Given the description of an element on the screen output the (x, y) to click on. 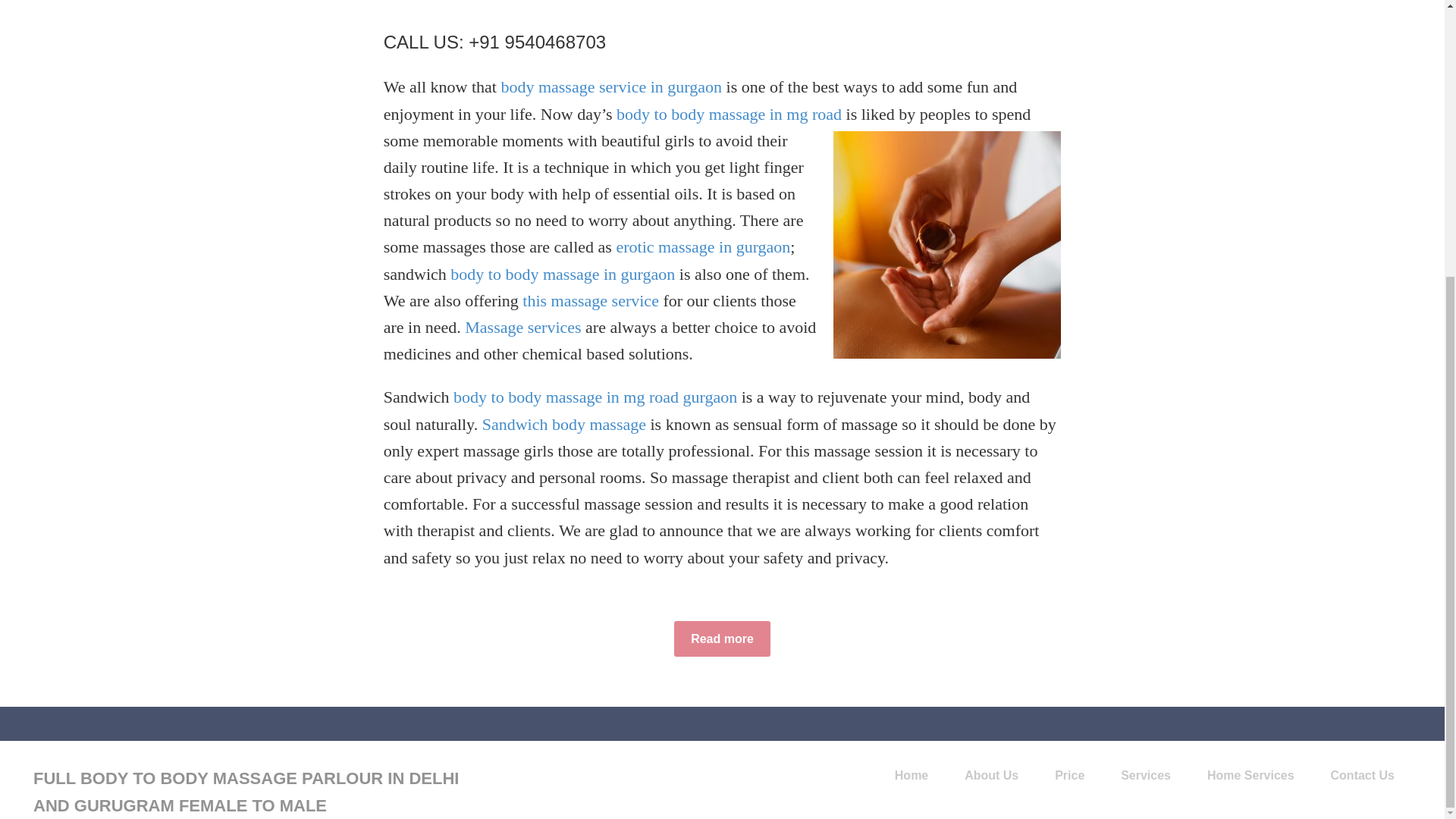
Services (1145, 775)
Home (910, 775)
Sandwich Body to Body Massage in MG Road Gurgaon (722, 638)
About Us (991, 775)
Price (1069, 775)
this massage service (590, 300)
body to body massage in mg road (728, 113)
erotic massage in gurgaon (702, 246)
body to body massage in gurgaon (562, 273)
body to body massage in mg road gurgaon (594, 396)
body massage service in gurgaon (611, 86)
Sandwich body massage (563, 424)
Read more (722, 638)
